Given the description of an element on the screen output the (x, y) to click on. 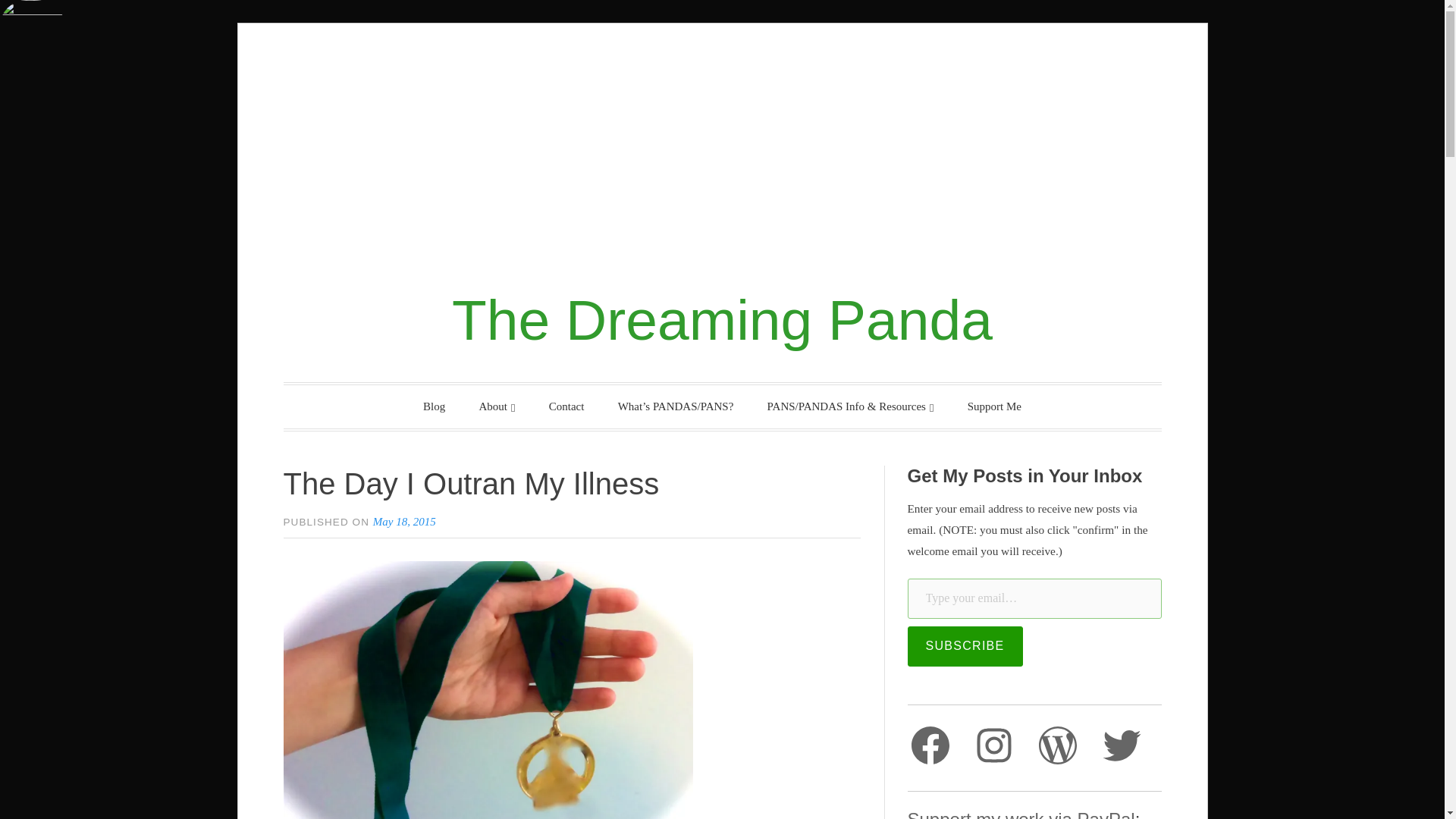
May 18, 2015 (403, 521)
Blog (433, 407)
About (497, 407)
The Dreaming Panda (721, 320)
Support Me (994, 407)
Please fill in this field. (1034, 598)
Contact (566, 407)
